Given the description of an element on the screen output the (x, y) to click on. 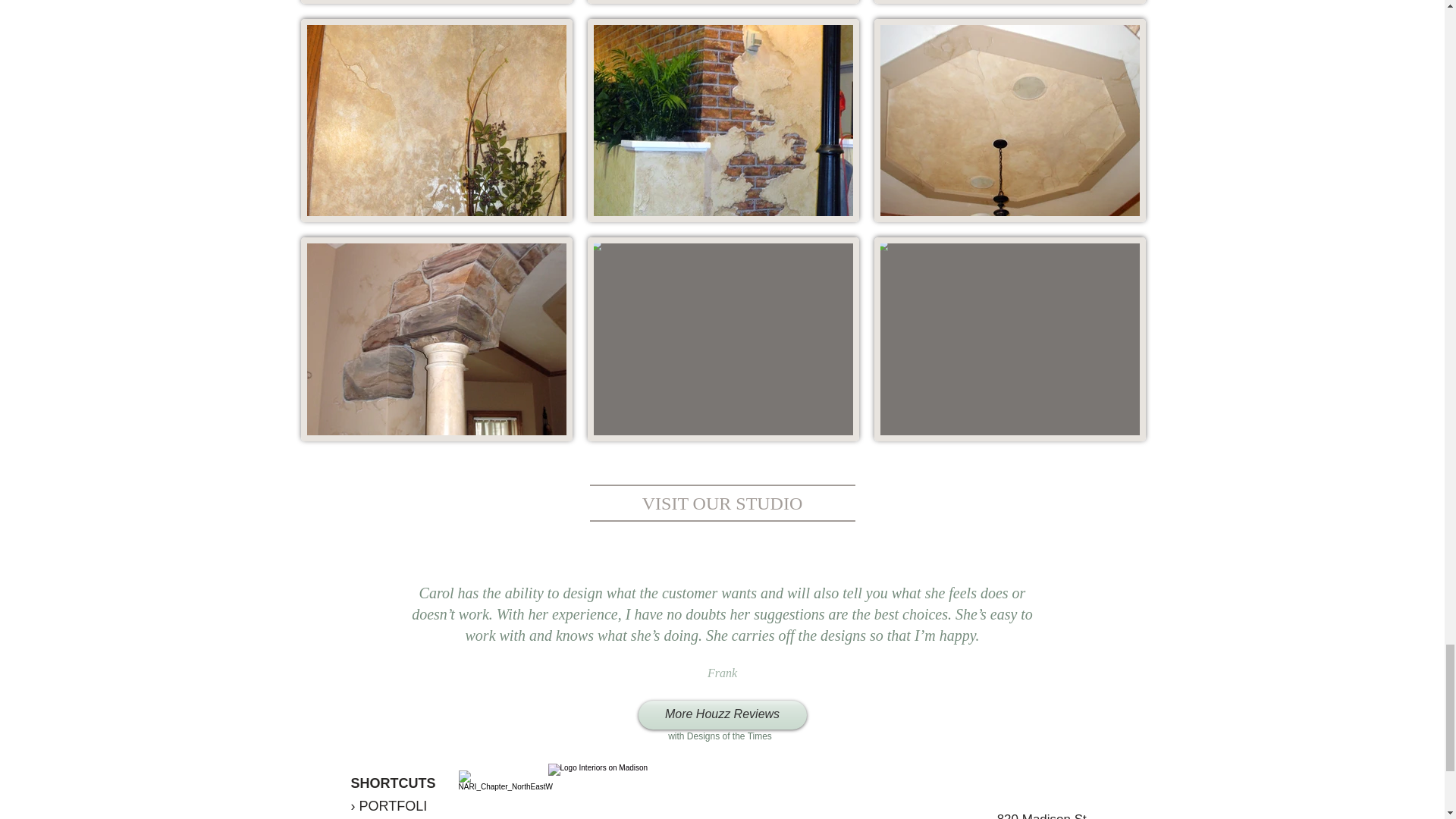
More Houzz Reviews (722, 715)
 PORTFOLIO (388, 808)
VISIT OUR STUDIO (722, 503)
